Given the description of an element on the screen output the (x, y) to click on. 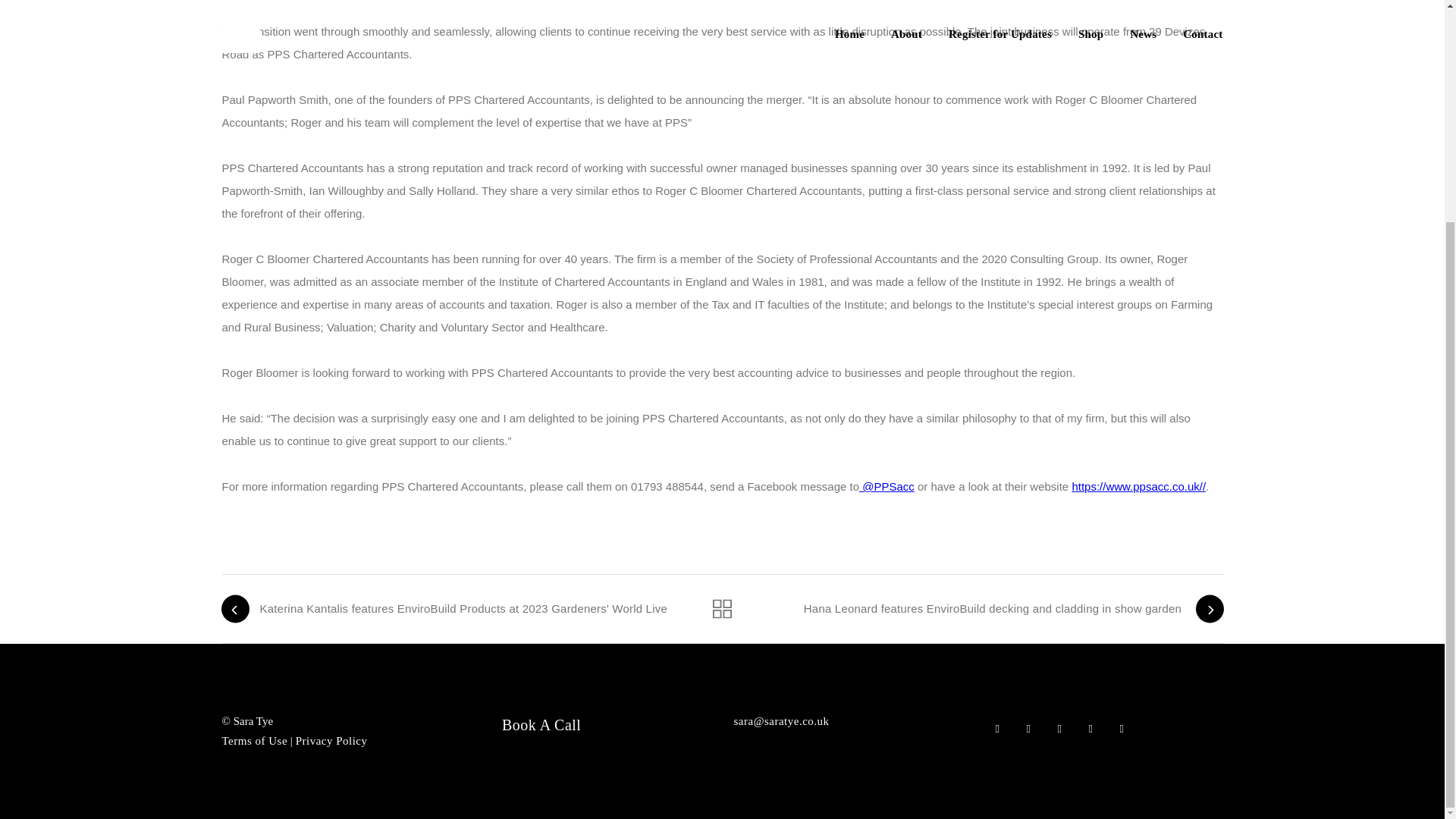
Terms of Use (253, 739)
Book A Call (541, 724)
Privacy Policy (331, 739)
